Given the description of an element on the screen output the (x, y) to click on. 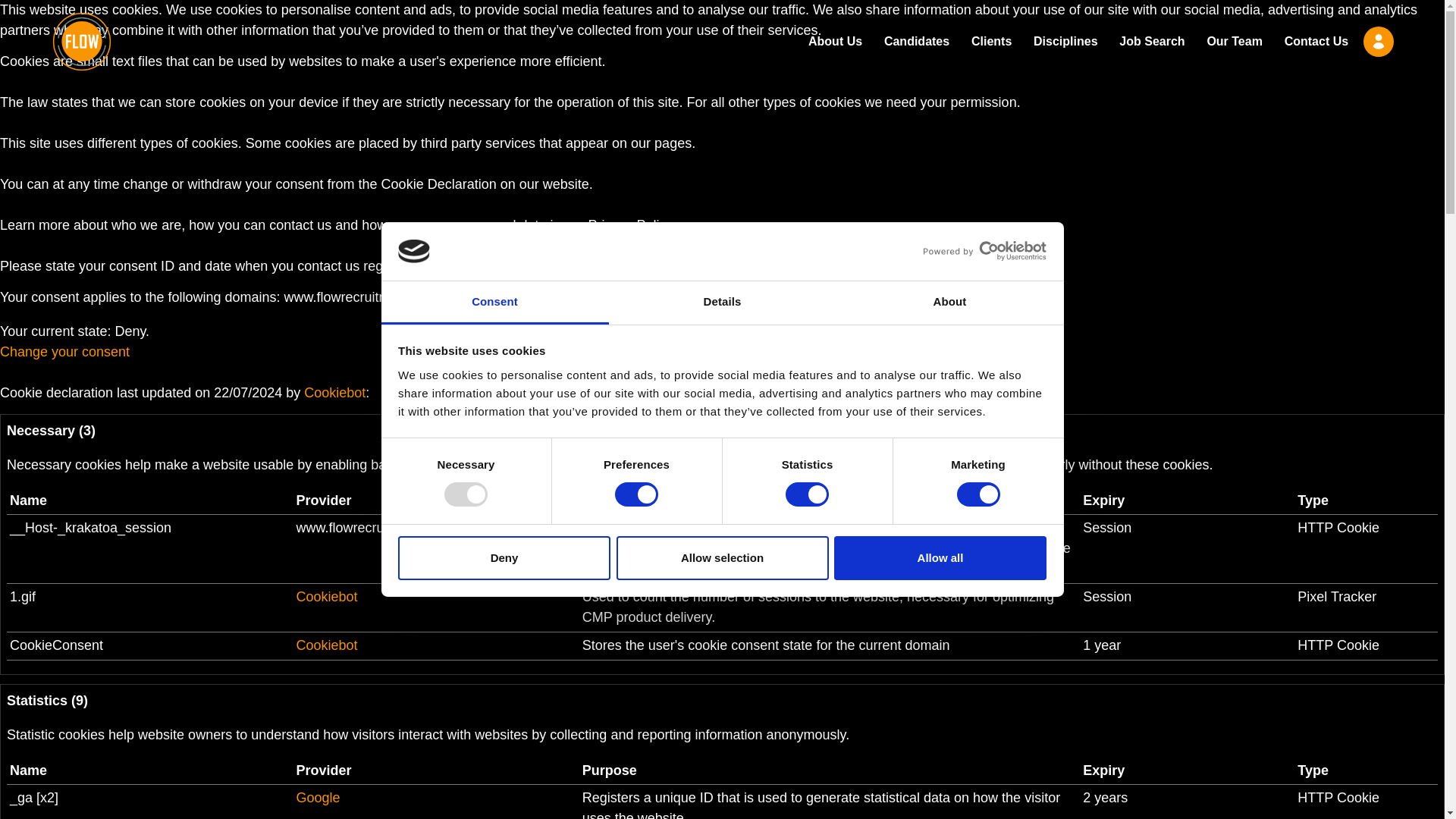
Change your consent (64, 351)
Cookiebot's privacy policy (325, 645)
Google's privacy policy (317, 797)
Cookiebot (334, 392)
Cookiebot (325, 645)
Cookiebot (334, 392)
About (948, 302)
Cookiebot (325, 596)
Consent (494, 302)
Cookiebot's privacy policy (325, 596)
